Given the description of an element on the screen output the (x, y) to click on. 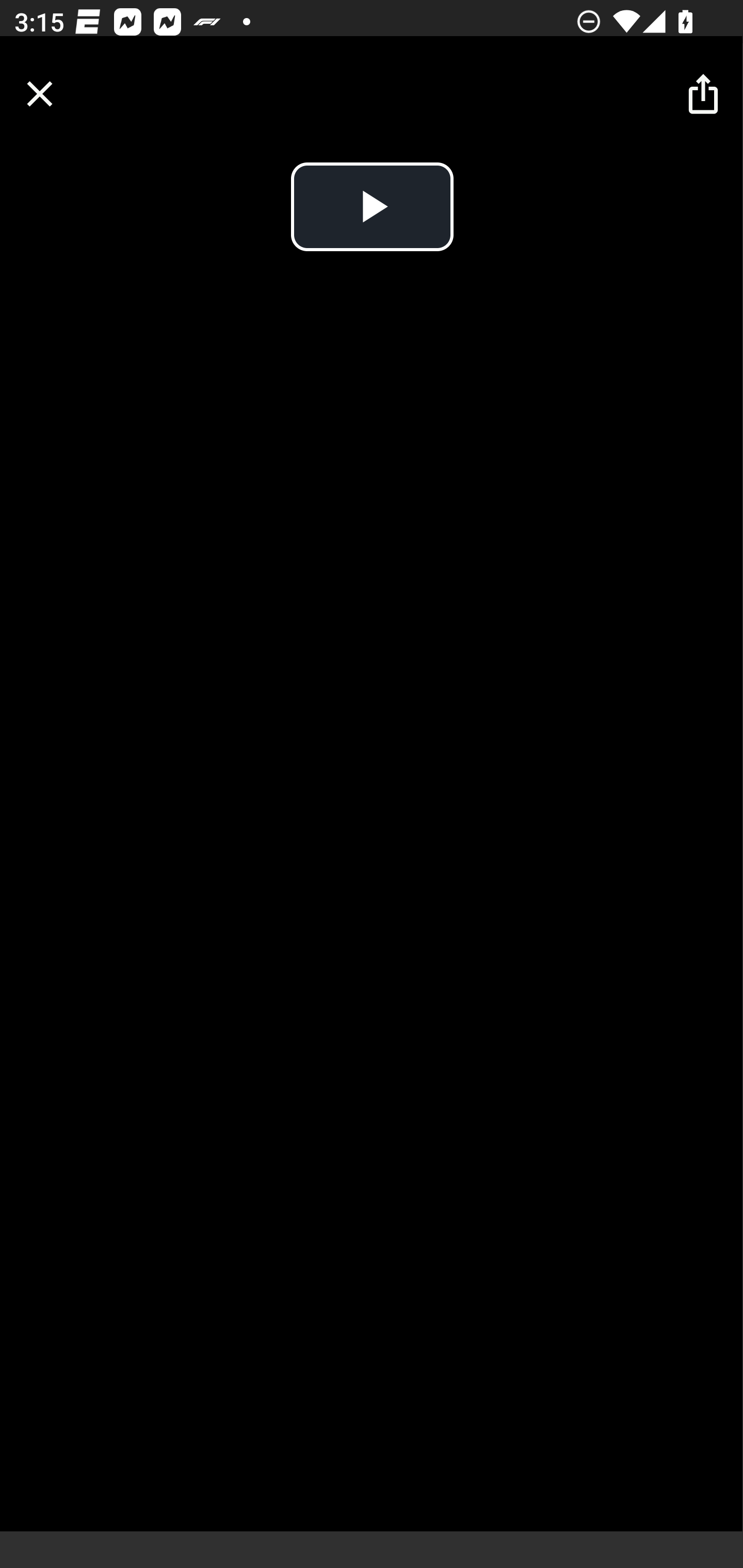
Play Video (371, 207)
